Given the description of an element on the screen output the (x, y) to click on. 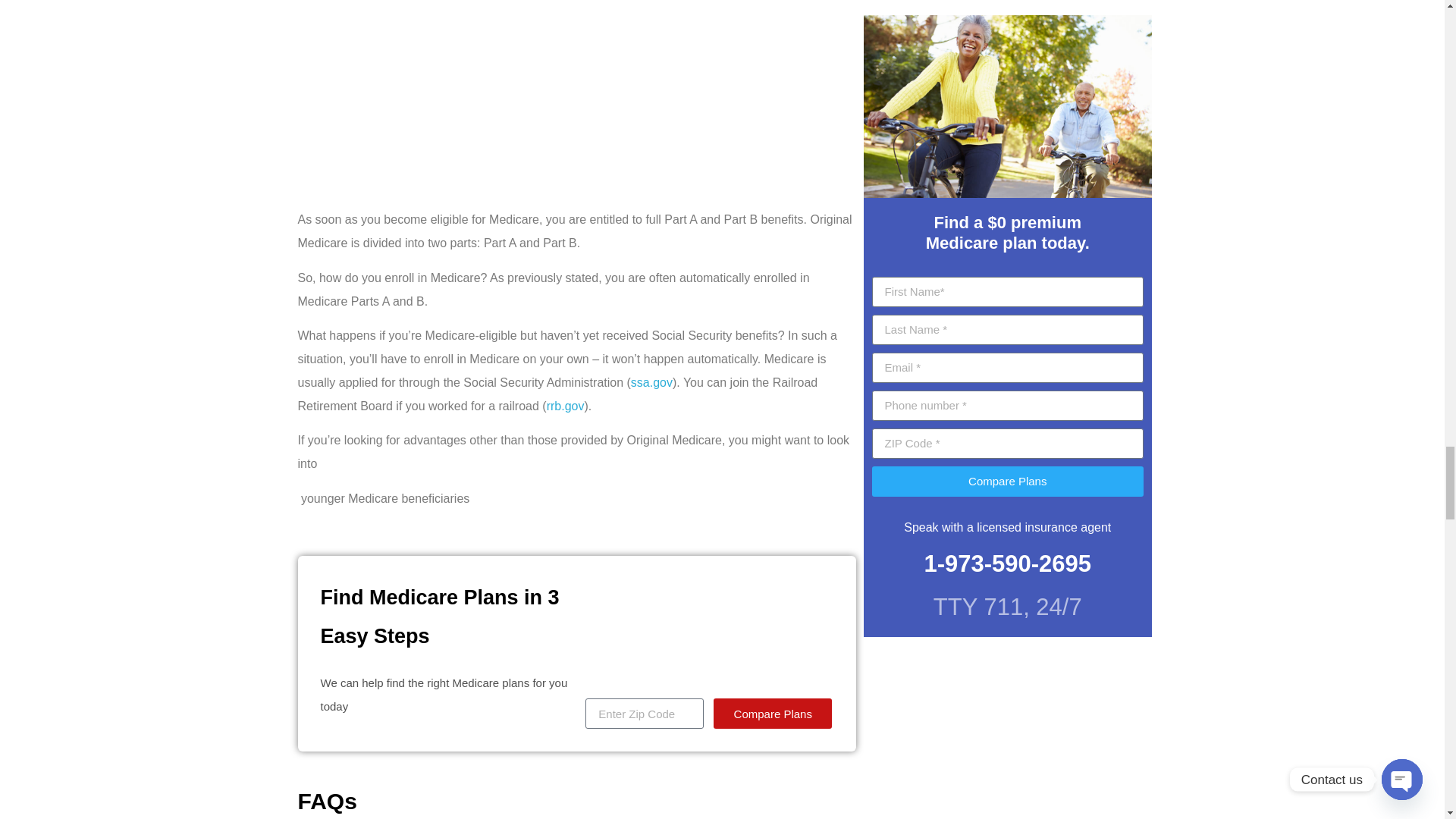
Compare Plans (772, 713)
rrb.gov (566, 405)
ssa.gov (651, 382)
